Given the description of an element on the screen output the (x, y) to click on. 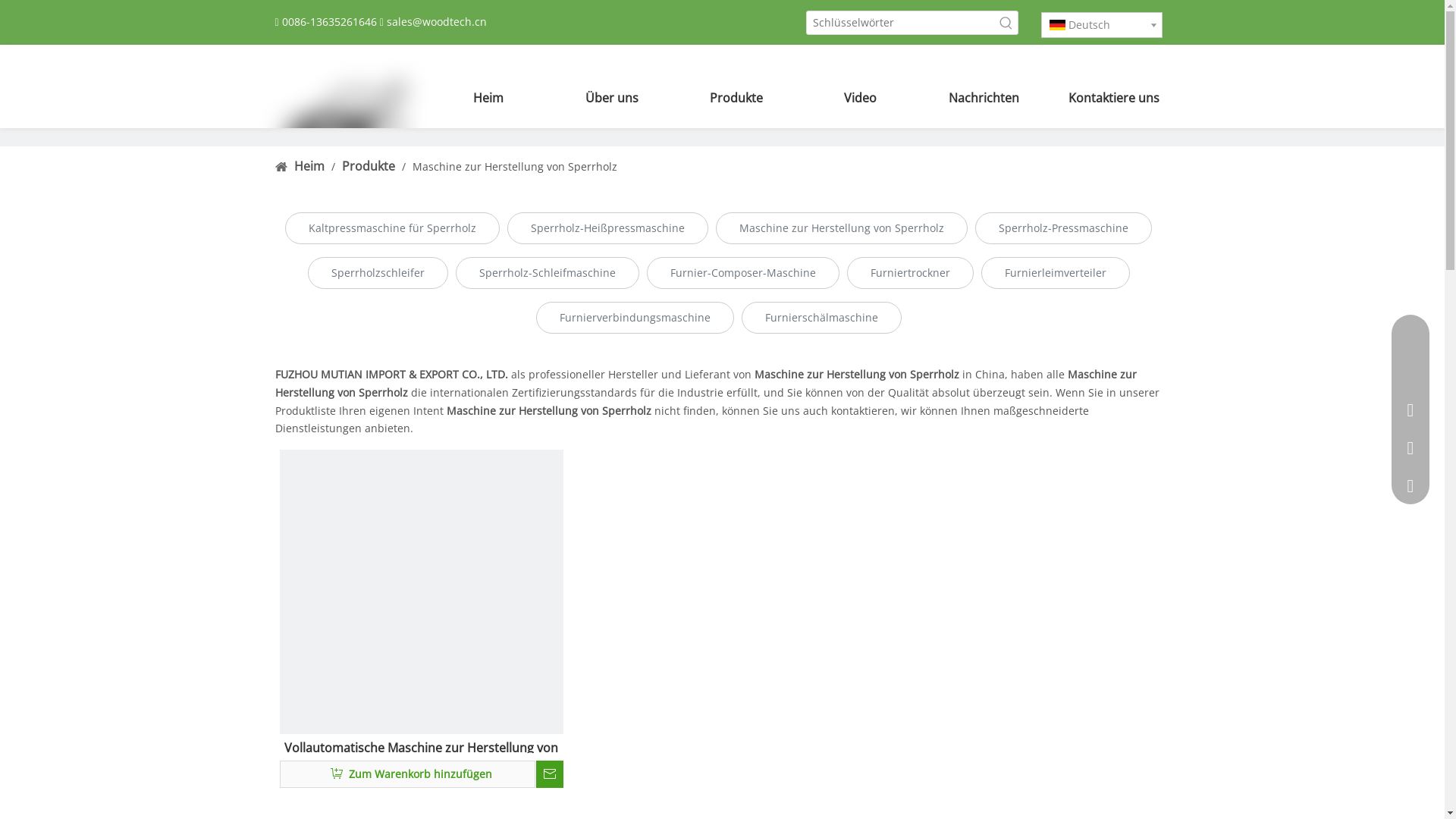
Sperrholz-Pressmaschine Element type: text (1063, 228)
  Element type: text (549, 773)
Maschine zur Herstellung von Sperrholz Element type: text (841, 228)
Kontaktiere uns Element type: text (1107, 97)
Video Element type: text (859, 97)
Produkte Element type: text (735, 97)
Sperrholzschleifer Element type: text (377, 272)
Nachrichten Element type: text (983, 97)
Heim Element type: text (487, 97)
Furnierverbindungsmaschine Element type: text (634, 317)
Furnier-Composer-Maschine Element type: text (742, 272)
Sperrholz-Schleifmaschine Element type: text (546, 272)
Heim Element type: text (310, 165)
Vollautomatische Maschine zur Herstellung von Sperrholz Element type: text (421, 745)
Furnierleimverteiler Element type: text (1055, 272)
Furniertrockner Element type: text (909, 272)
Produkte Element type: text (369, 165)
LOGO100 Element type: hover (342, 127)
sales@woodtech.cn Element type: text (436, 21)
